Given the description of an element on the screen output the (x, y) to click on. 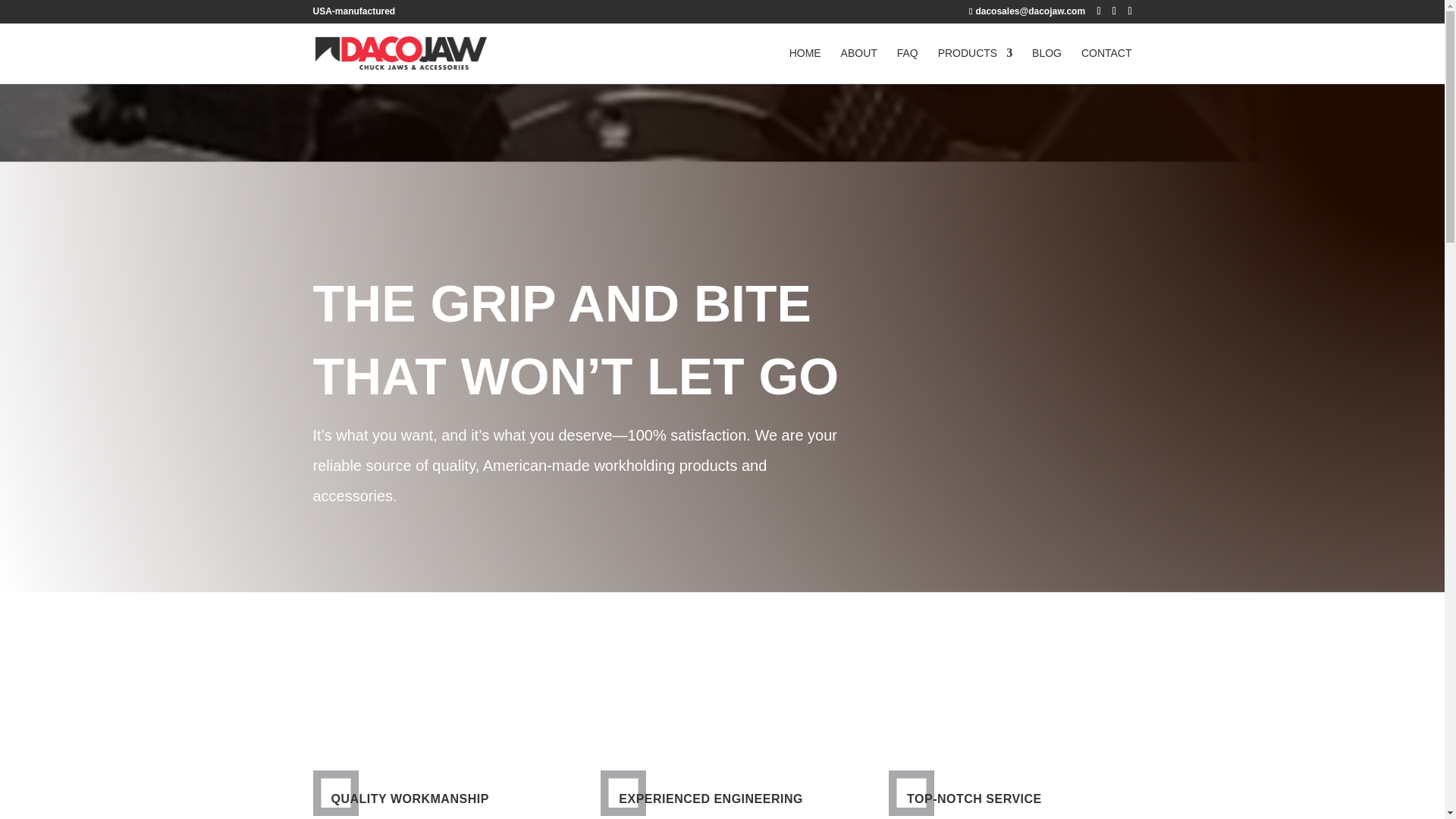
PRODUCTS (975, 65)
HOME (805, 65)
ABOUT (859, 65)
CONTACT (1106, 65)
